Given the description of an element on the screen output the (x, y) to click on. 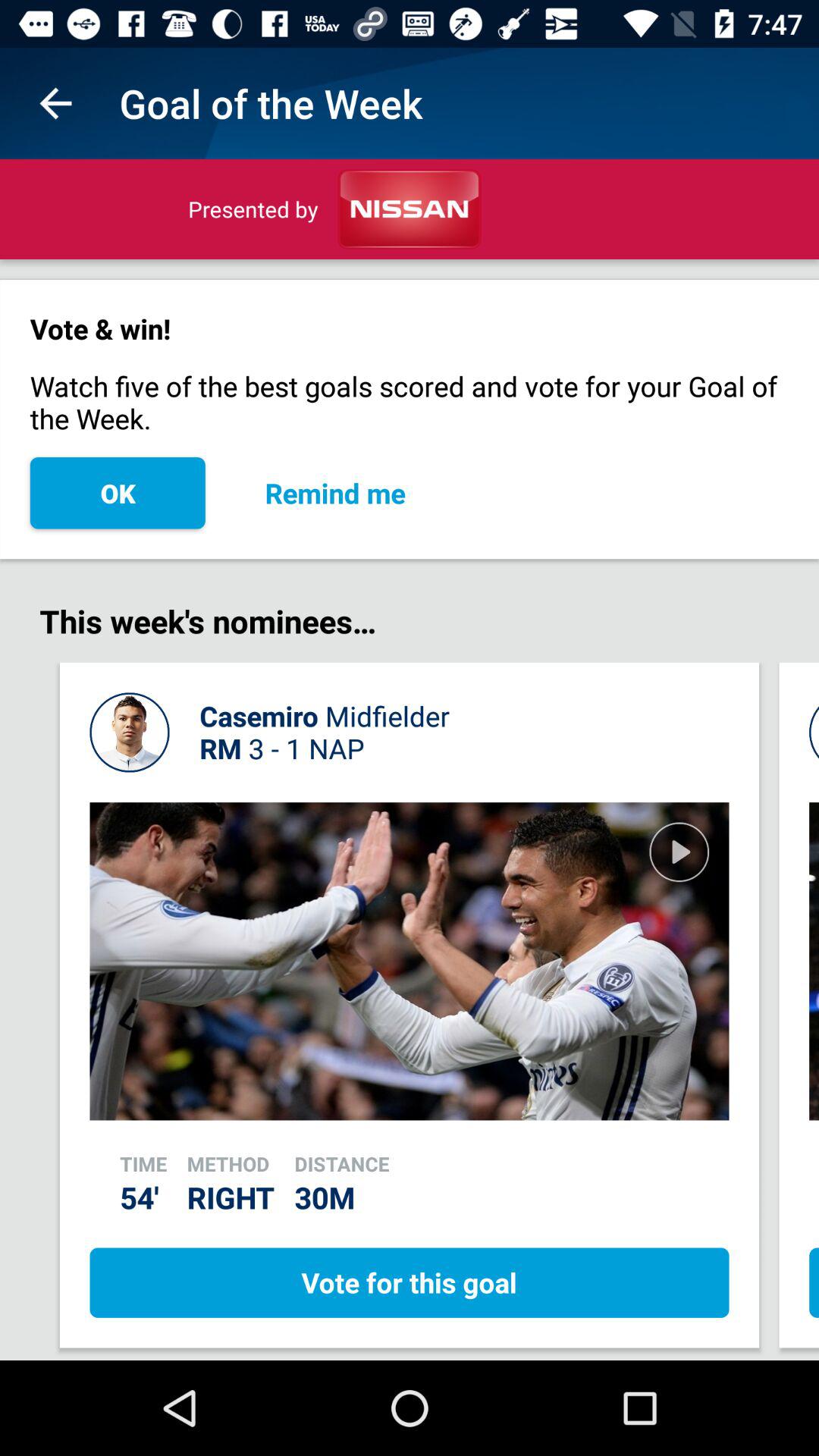
choose the icon to the right of ok icon (335, 492)
